Given the description of an element on the screen output the (x, y) to click on. 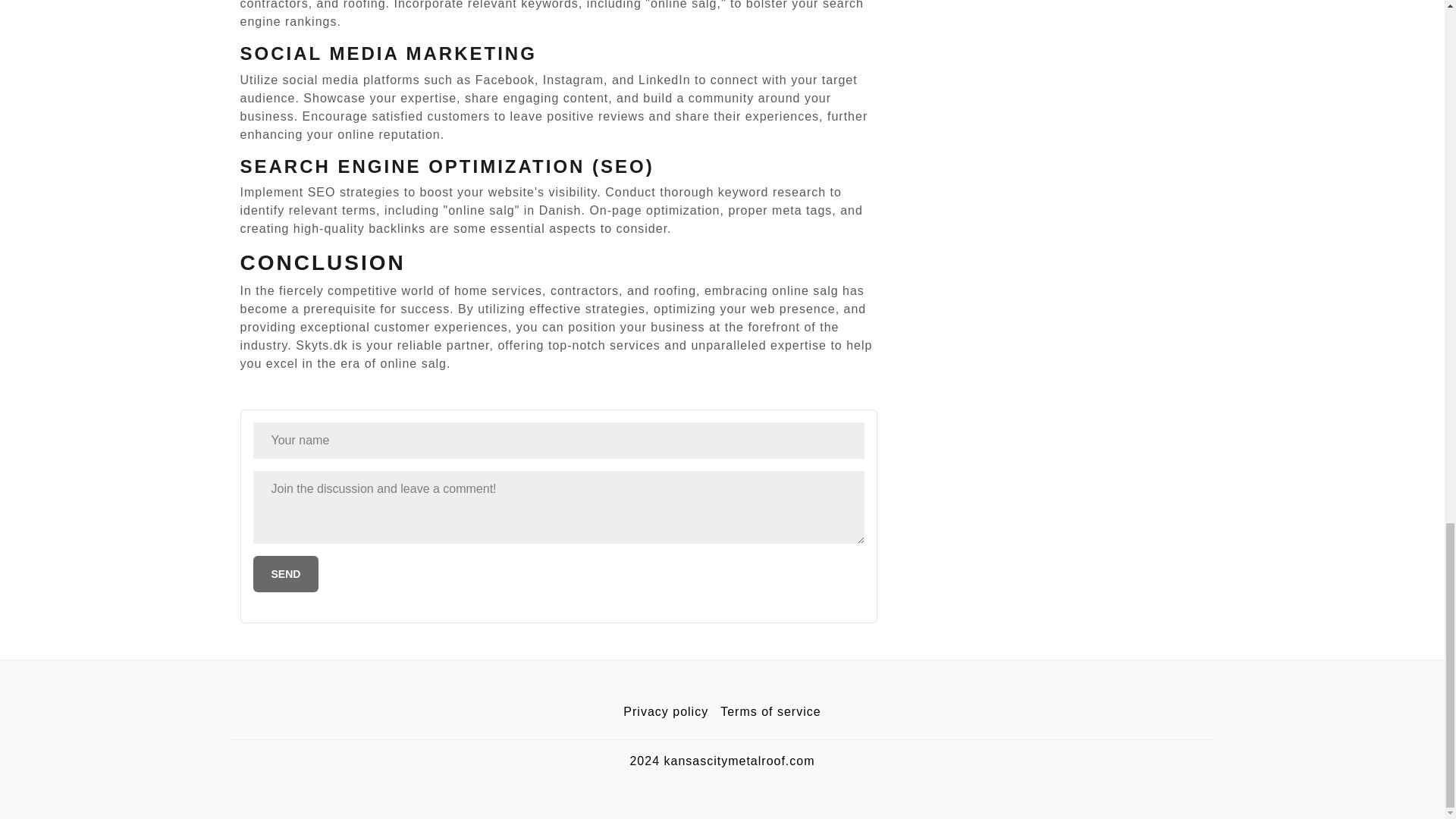
Send (285, 574)
Send (285, 574)
Terms of service (770, 711)
Privacy policy (665, 711)
